Given the description of an element on the screen output the (x, y) to click on. 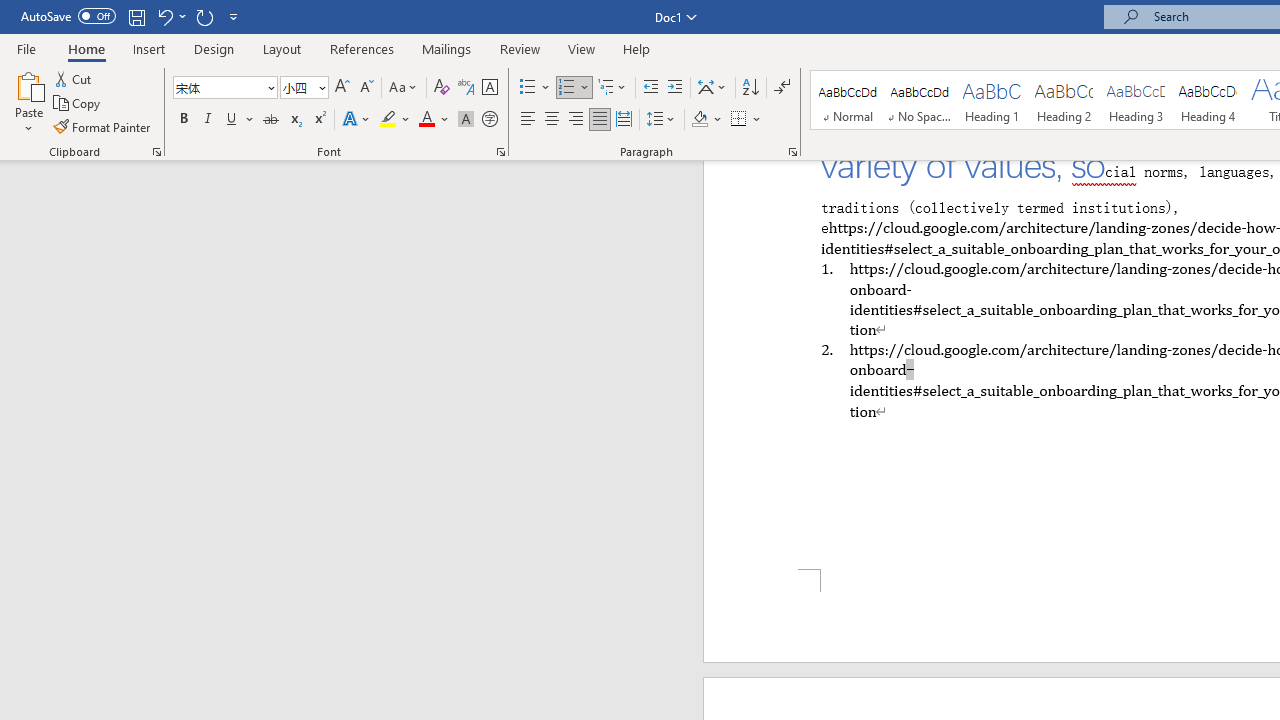
Layout (282, 48)
Character Border (489, 87)
Superscript (319, 119)
Asian Layout (712, 87)
Distributed (623, 119)
Show/Hide Editing Marks (781, 87)
Undo Apply Quick Style (164, 15)
Increase Indent (675, 87)
Heading 2 (1063, 100)
Shrink Font (365, 87)
Numbering (573, 87)
Strikethrough (270, 119)
Help (637, 48)
